Given the description of an element on the screen output the (x, y) to click on. 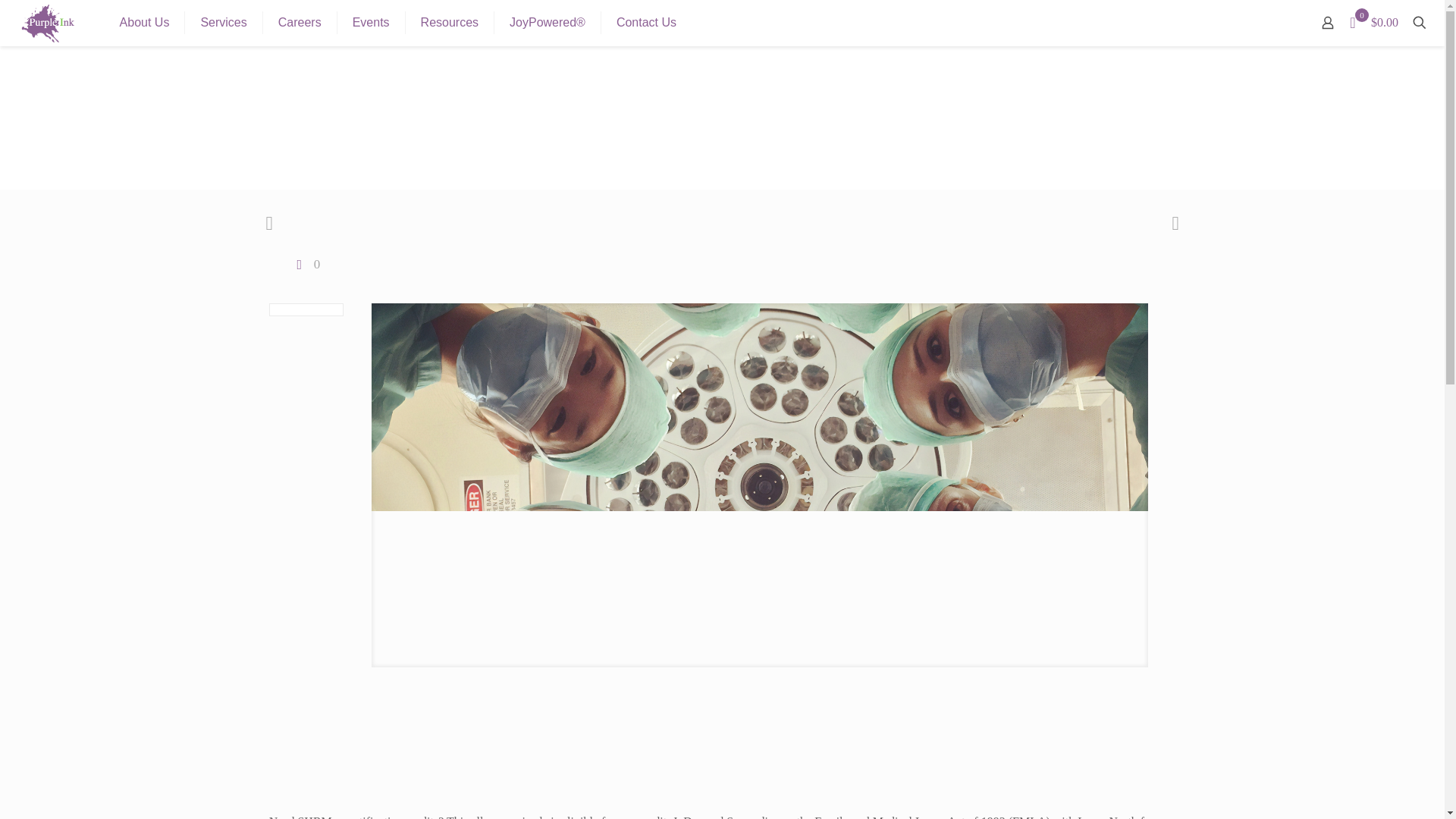
0 (306, 264)
Careers (300, 22)
SHRM Credit: FMLA - A Practical Approach to Leave Management (722, 757)
About Us (145, 22)
Contact Us (646, 22)
Services (223, 22)
Events (371, 22)
Resources (450, 22)
